Given the description of an element on the screen output the (x, y) to click on. 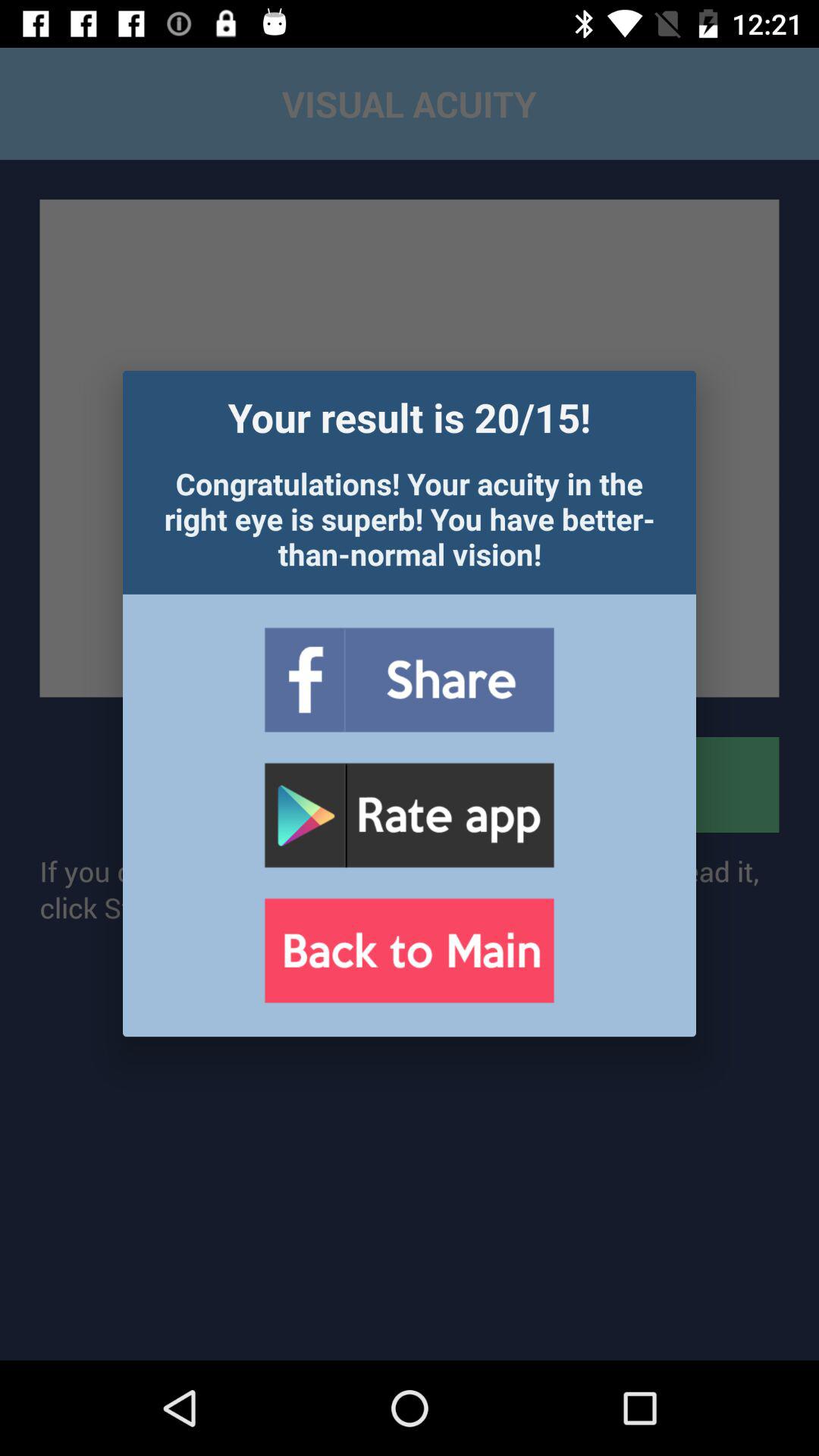
share to facebook (408, 679)
